Given the description of an element on the screen output the (x, y) to click on. 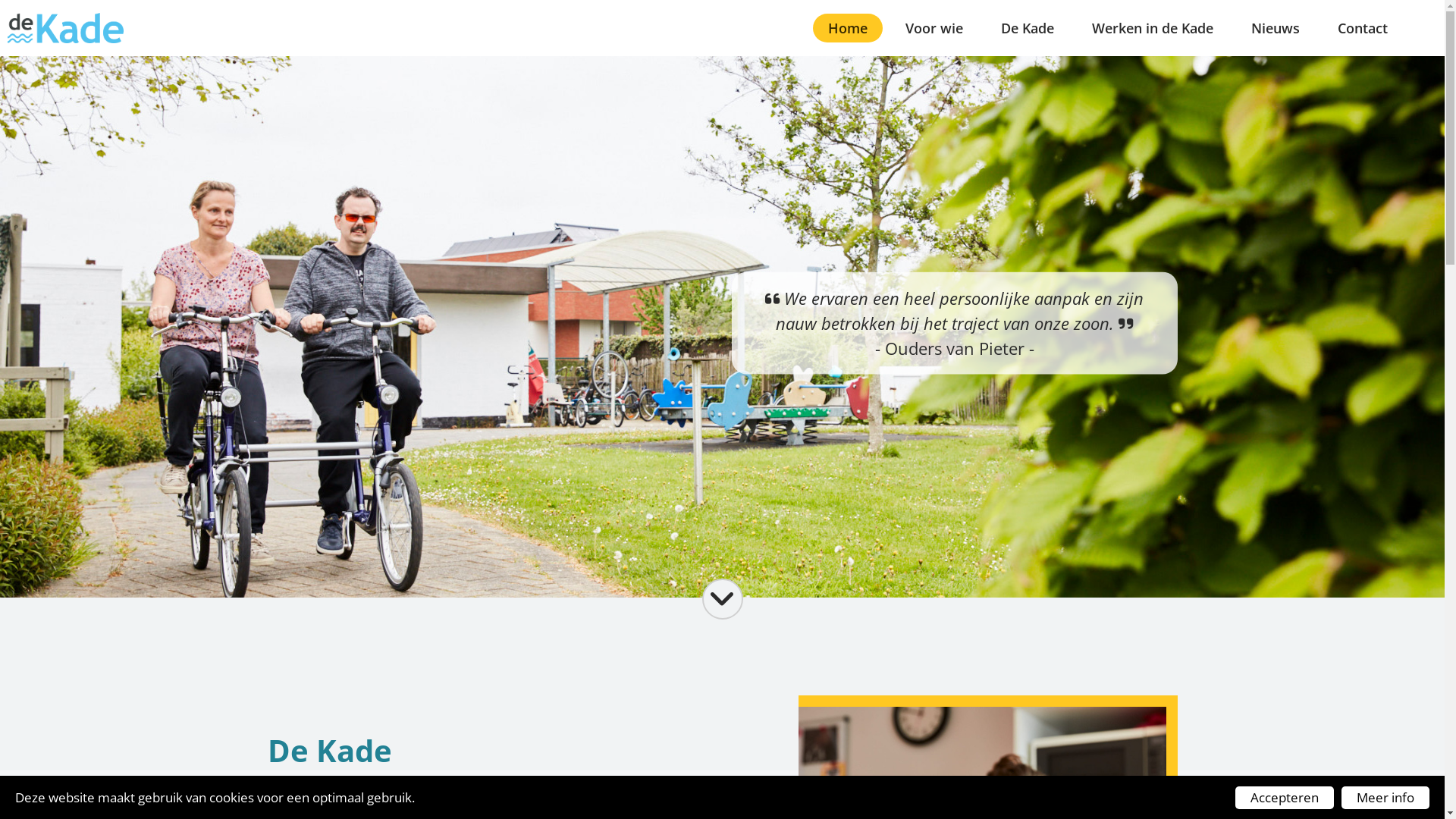
De Kade Element type: text (1027, 28)
Accepteren Element type: text (1284, 797)
Home Element type: text (847, 28)
Voor wie Element type: text (934, 28)
Contact Element type: text (1362, 28)
Werken in de Kade Element type: text (1152, 28)
Begeleidster fietst samen met man met beperking op domein Element type: hover (722, 326)
Meer info Element type: text (1385, 797)
Nieuws Element type: text (1275, 28)
